Given the description of an element on the screen output the (x, y) to click on. 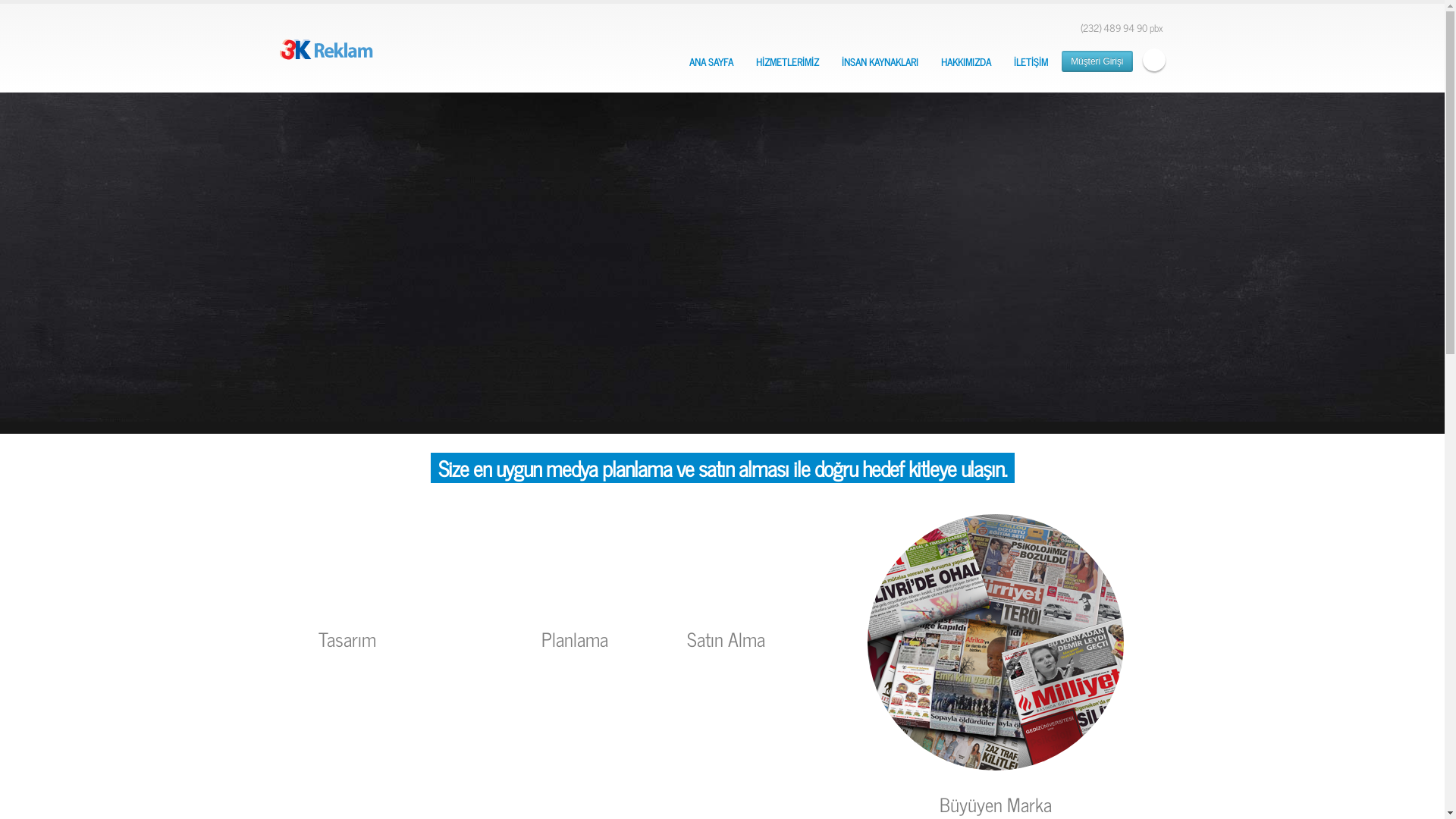
HAKKIMIZDA Element type: text (965, 61)
Facebook Element type: text (1153, 59)
ANA SAYFA Element type: text (711, 61)
